Given the description of an element on the screen output the (x, y) to click on. 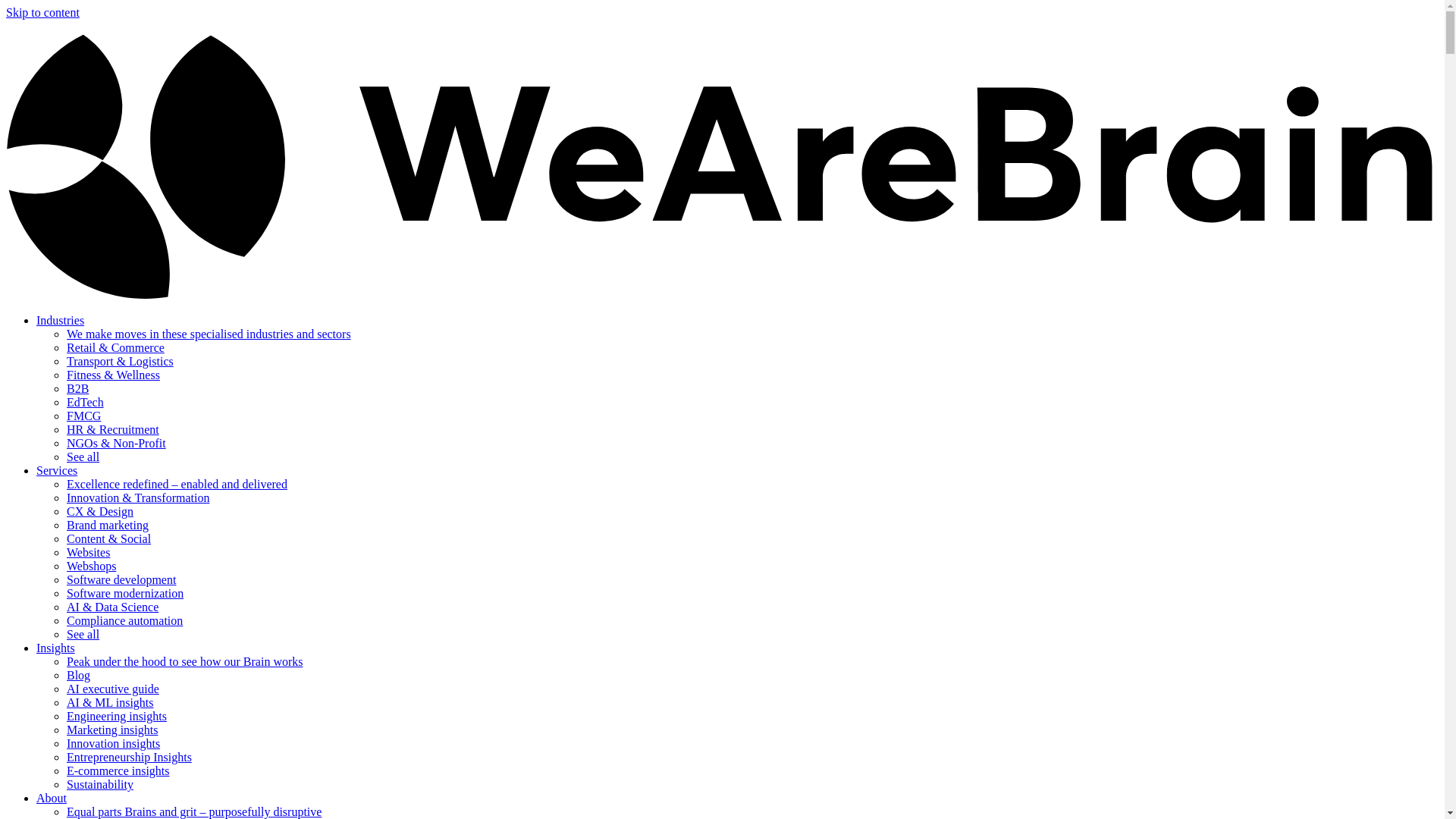
E-commerce insights (118, 770)
B2B (77, 388)
Compliance automation (124, 620)
About (51, 797)
Sustainability (99, 784)
Websites (88, 552)
See all (82, 456)
We make moves in these specialised industries and sectors (208, 333)
Webshops (91, 565)
Blog (78, 675)
